Given the description of an element on the screen output the (x, y) to click on. 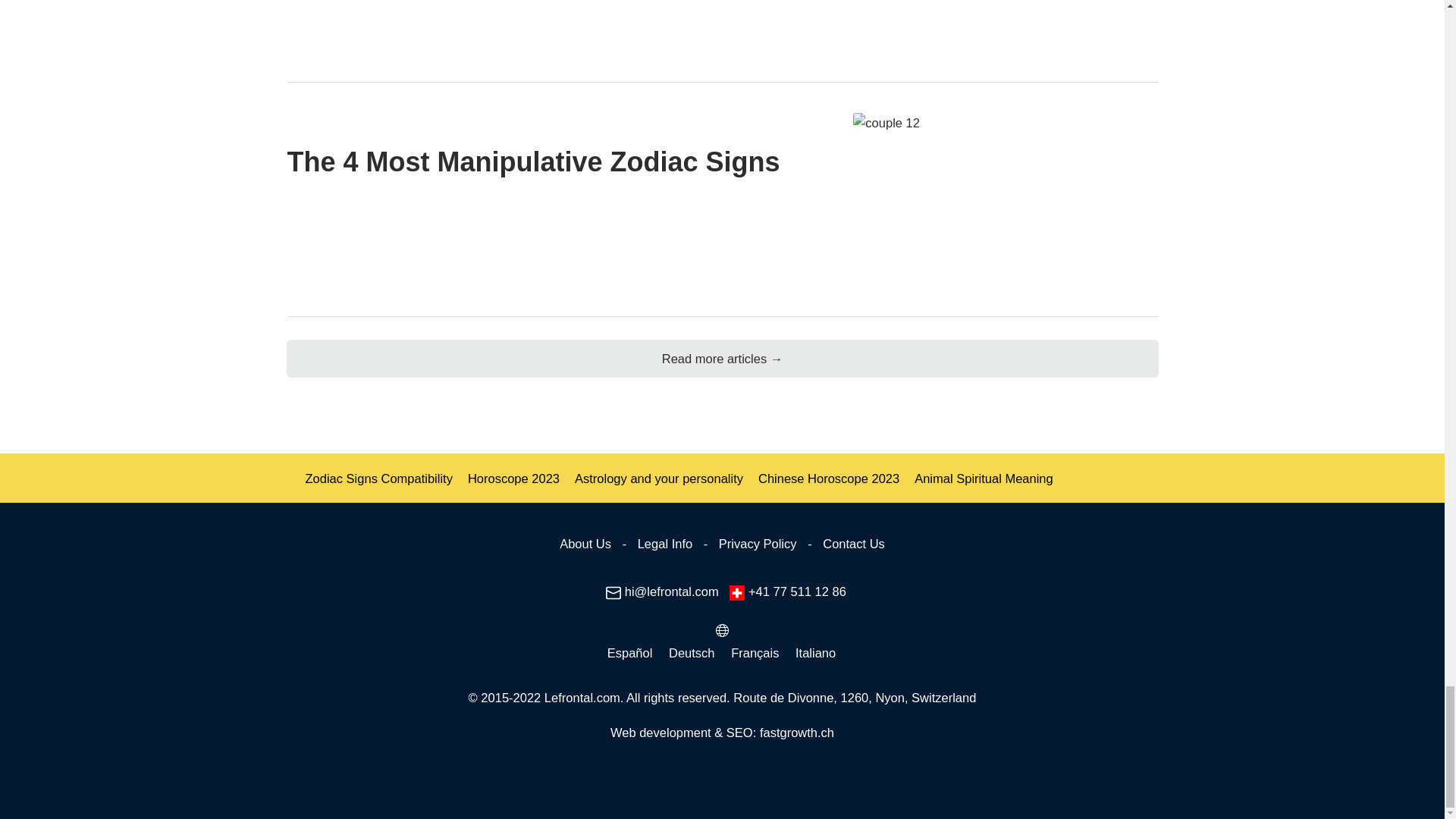
The 4 Most Cruel and Vindictive Women of the Zodiac (721, 25)
Deutsch (692, 652)
Italiano (816, 652)
Astrology and your personality (658, 478)
The 4 Most Manipulative Zodiac Signs (974, 196)
Chinese Horoscope 2023 (828, 478)
fastgrowth.ch (797, 732)
The 4 Most Cruel and Vindictive Women of the Zodiac (974, 22)
Best zodiac signs articles (722, 358)
Zodiac Signs Compatibility (377, 478)
Animal Spiritual Meaning (983, 478)
Contact Us (853, 543)
Privacy Policy (758, 543)
Legal Info (665, 543)
